Given the description of an element on the screen output the (x, y) to click on. 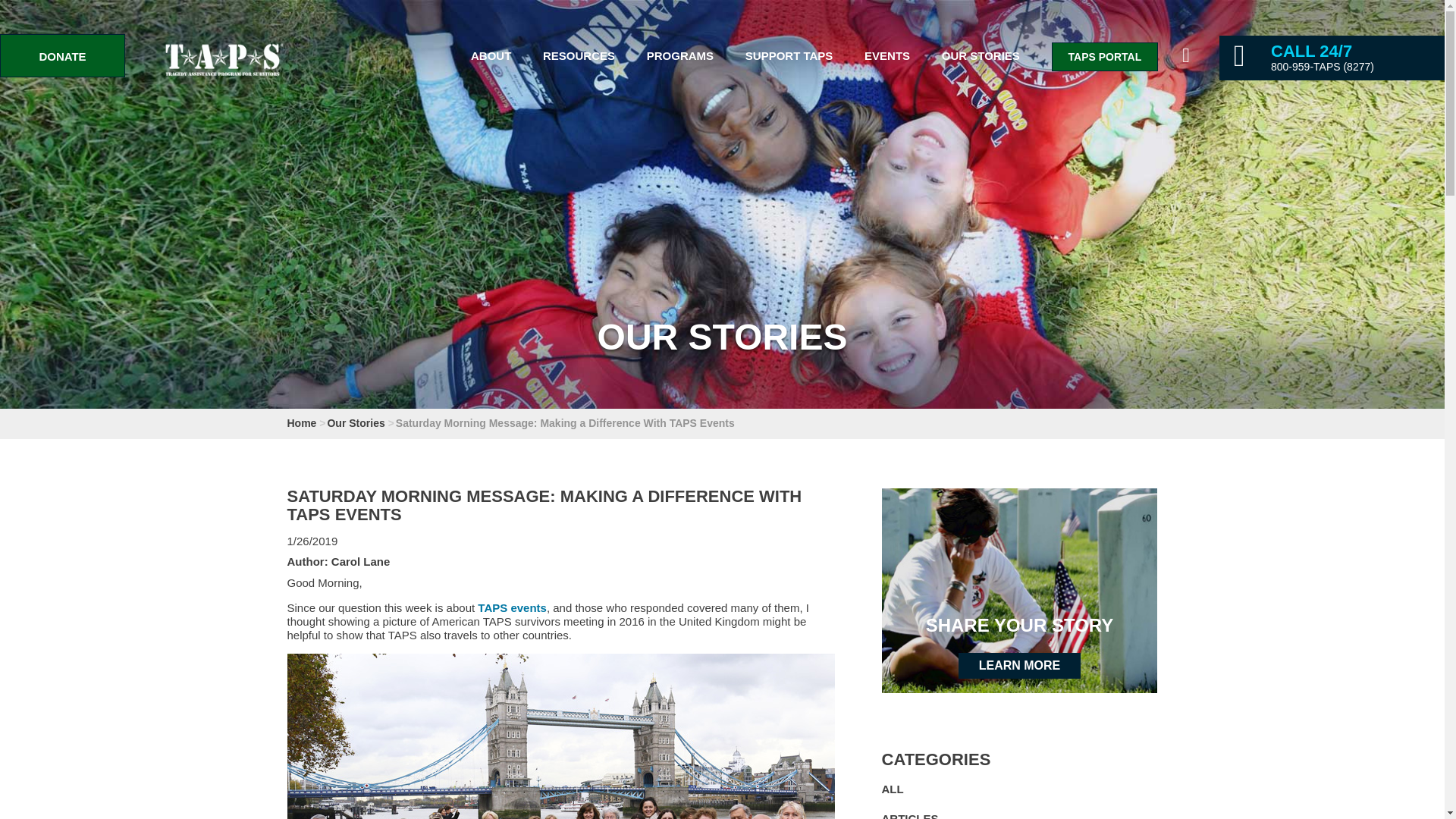
DONATE (62, 55)
Survivors Gather under the London Bridge (560, 736)
ABOUT (490, 55)
RESOURCES (578, 55)
PROGRAMS (679, 55)
